Given the description of an element on the screen output the (x, y) to click on. 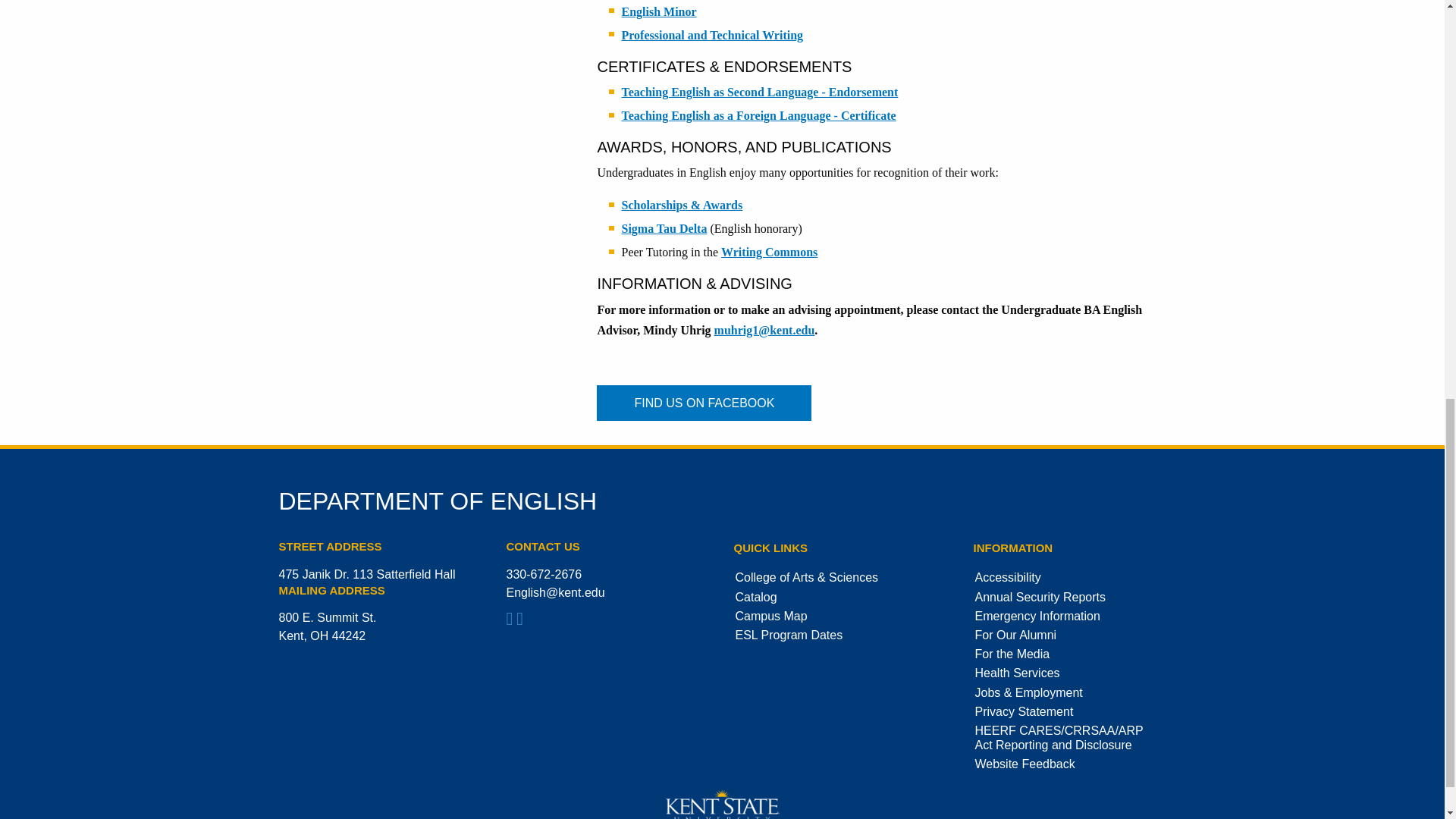
Kent State University logo (721, 804)
